Given the description of an element on the screen output the (x, y) to click on. 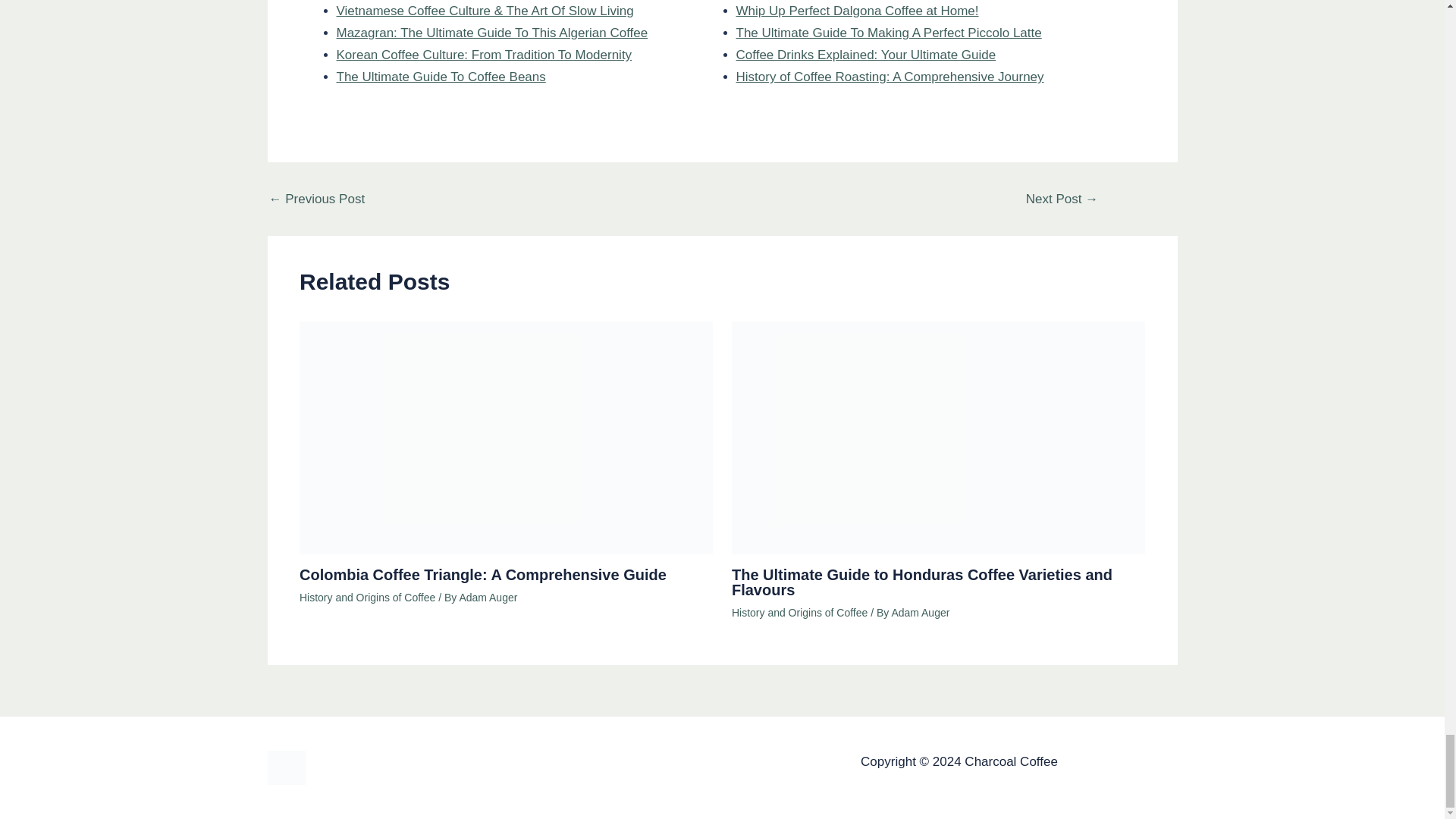
View all posts by Adam Auger (487, 597)
The World of Decaf Coffee: A Comprehensive Guide (1060, 198)
View all posts by Adam Auger (920, 612)
Geisha Coffee or Gesha? Coffee's Biggest Identity Crisis (316, 198)
